Given the description of an element on the screen output the (x, y) to click on. 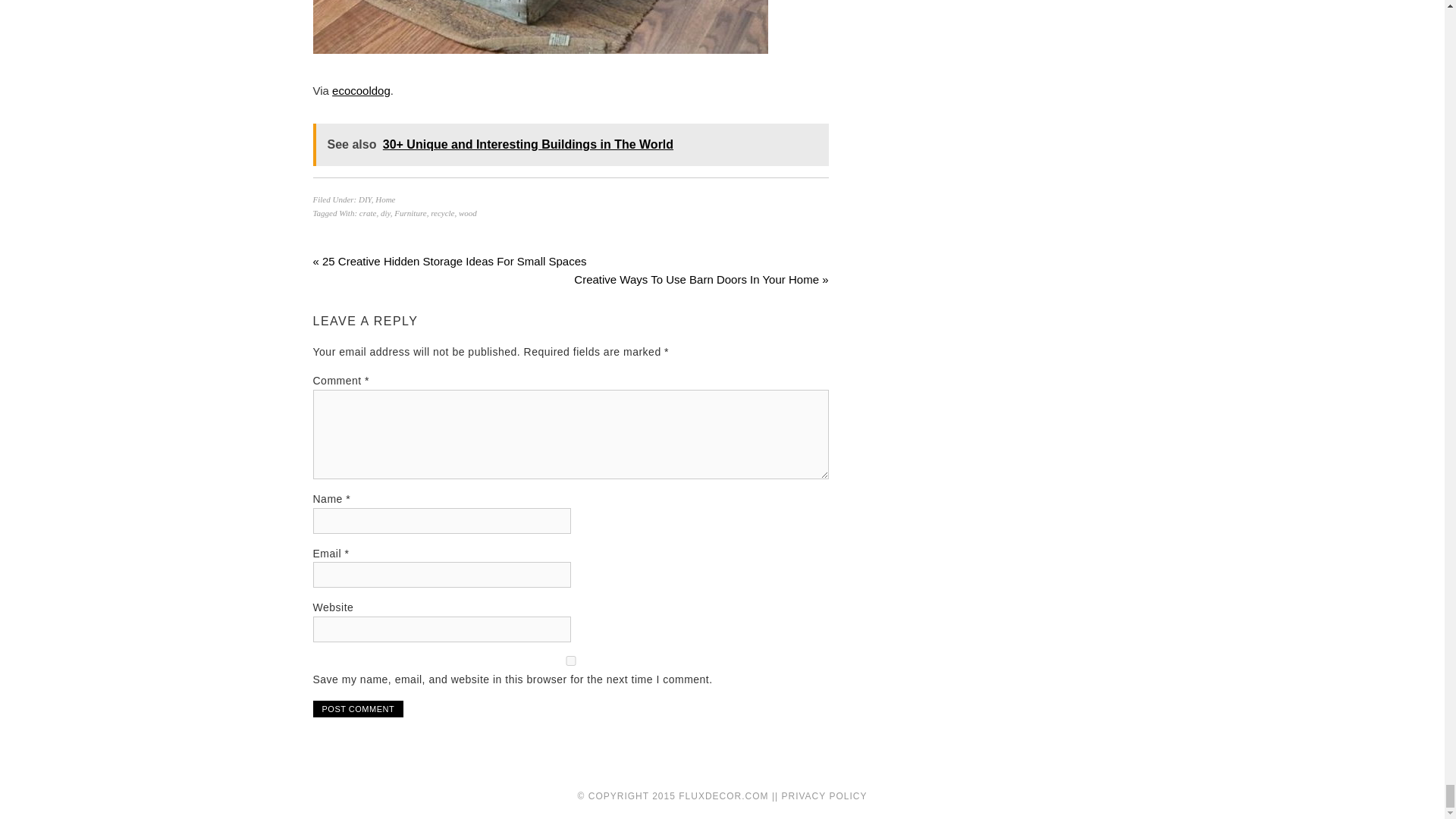
yes (570, 660)
Post Comment (358, 709)
